Given the description of an element on the screen output the (x, y) to click on. 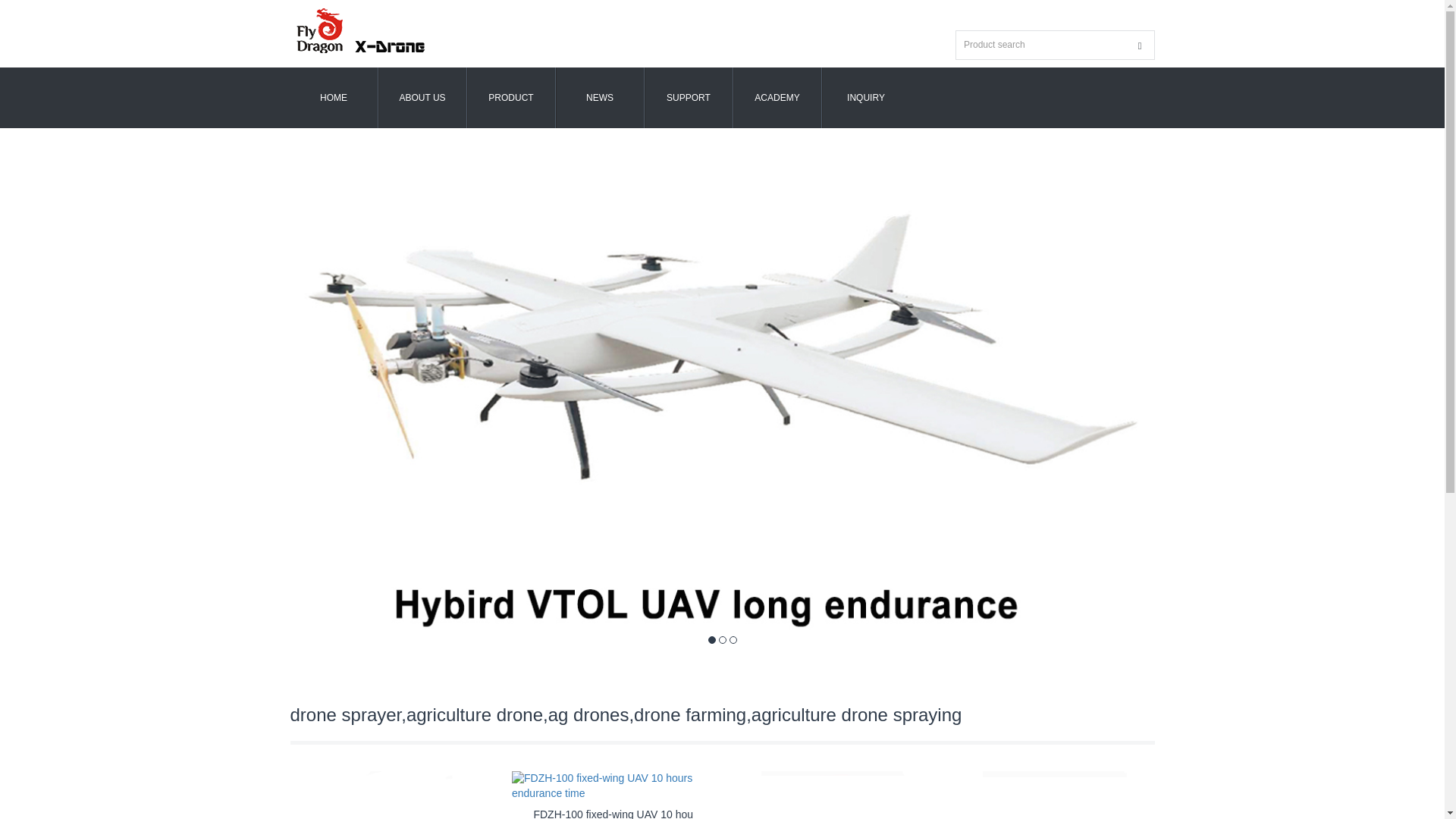
PRODUCT (510, 97)
NEWS (599, 97)
ACADEMY (777, 97)
HOME (333, 97)
FDZH-100 fixed-wing UAV 10 hours endurance time (612, 813)
Product search (1139, 45)
INQUIRY (865, 97)
SUPPORT (688, 97)
ABOUT US (421, 97)
